Given the description of an element on the screen output the (x, y) to click on. 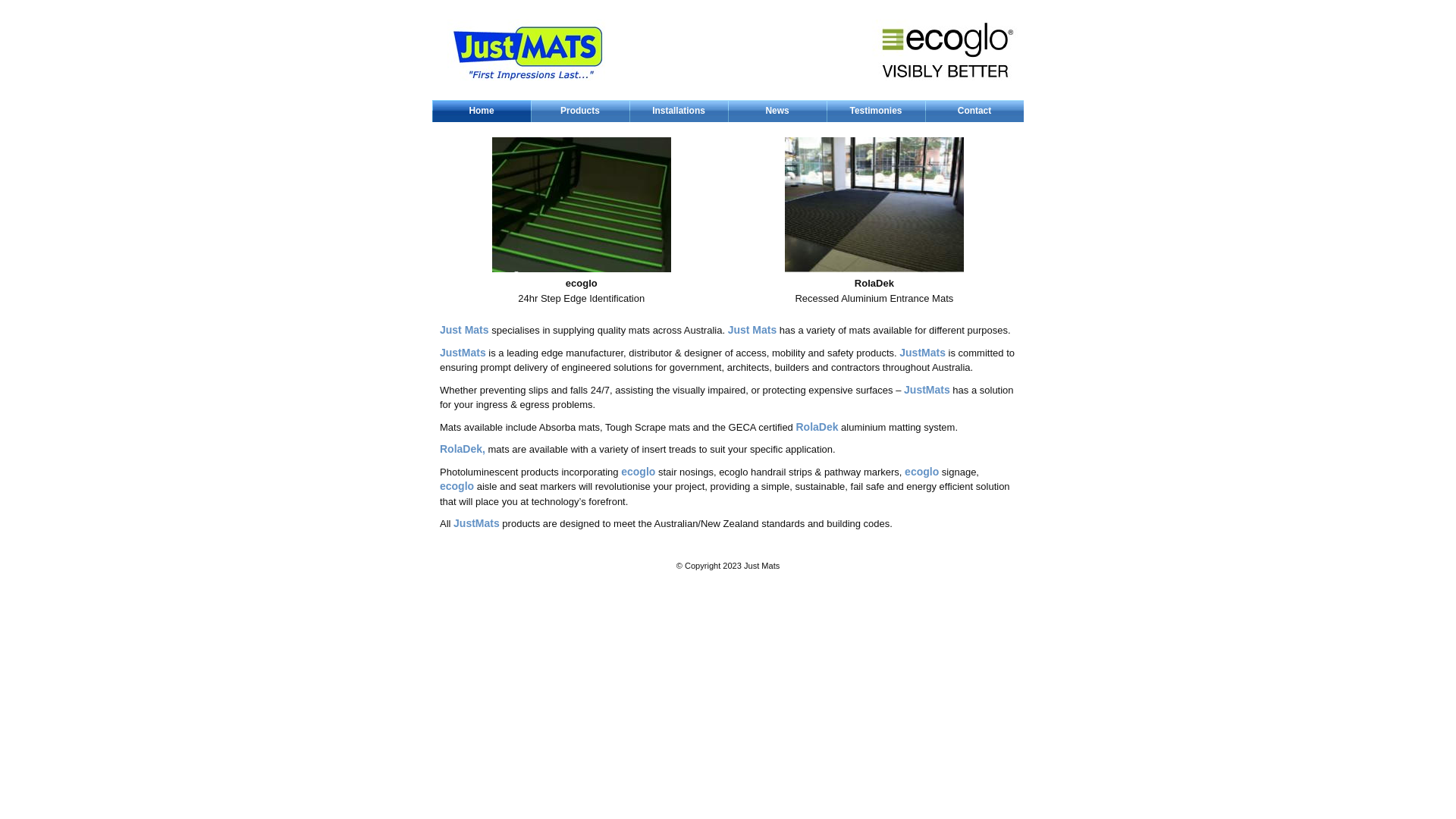
RolaDek Element type: text (816, 426)
Home Element type: text (481, 111)
ecoglo Element type: text (638, 471)
Installations Element type: text (678, 111)
Products Element type: text (579, 111)
Testimonies Element type: text (875, 111)
RolaDek, Element type: text (462, 448)
News Element type: text (777, 111)
ecoglo Element type: text (456, 486)
ecoglo Element type: text (921, 471)
Contact Element type: text (974, 111)
